Given the description of an element on the screen output the (x, y) to click on. 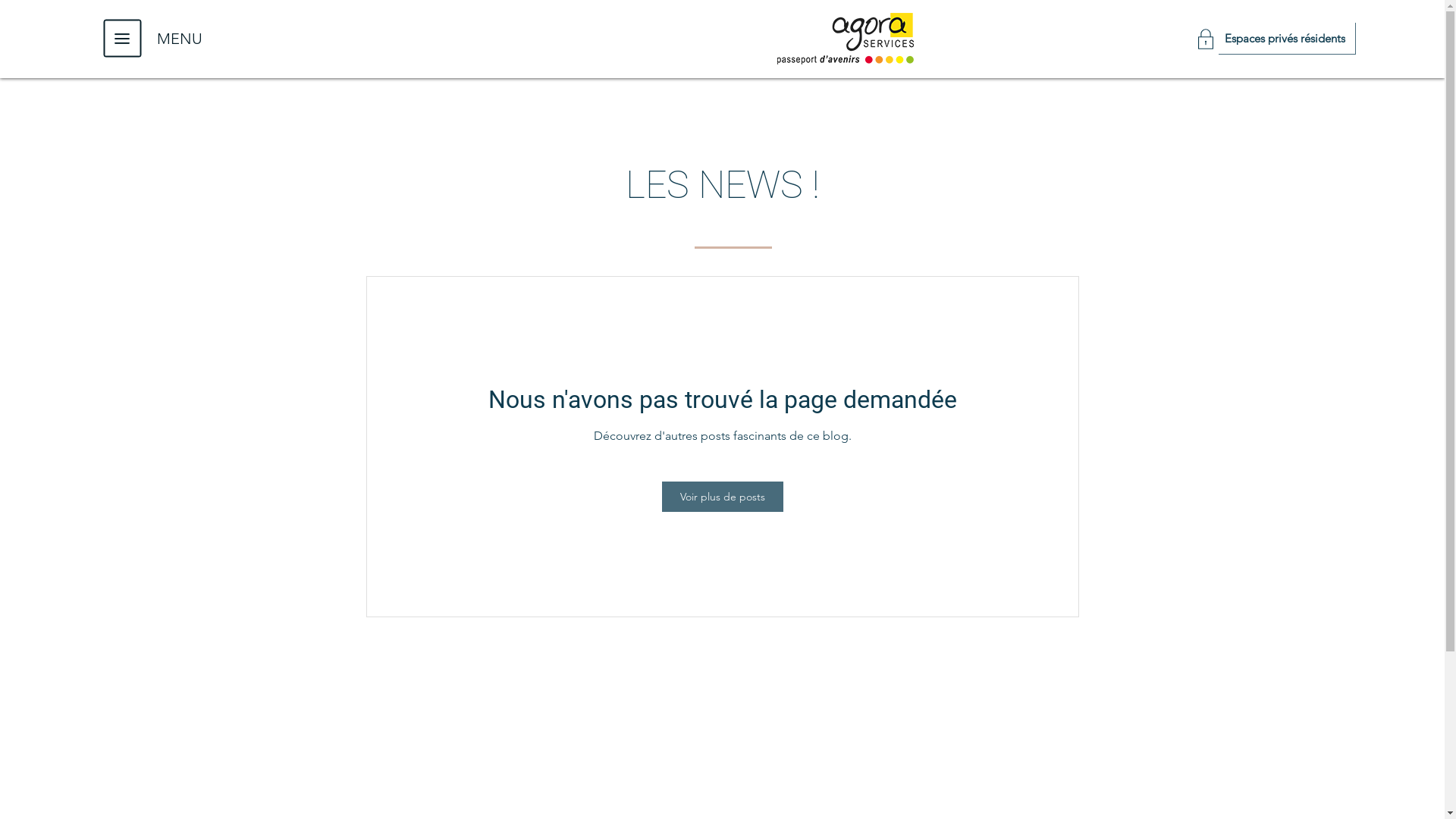
Voir plus de posts Element type: text (721, 496)
